Given the description of an element on the screen output the (x, y) to click on. 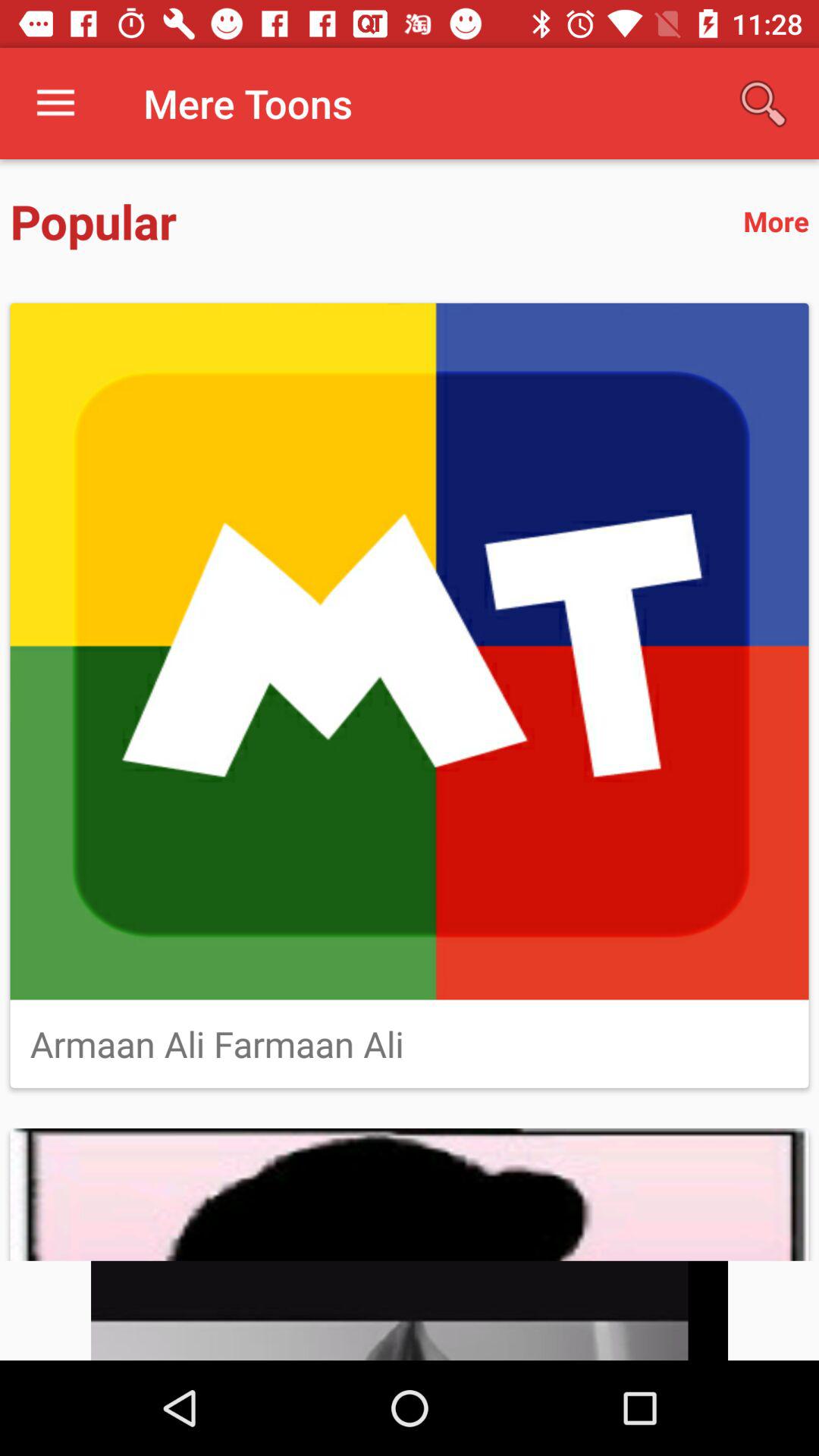
click icon to the left of mere toons item (55, 103)
